Given the description of an element on the screen output the (x, y) to click on. 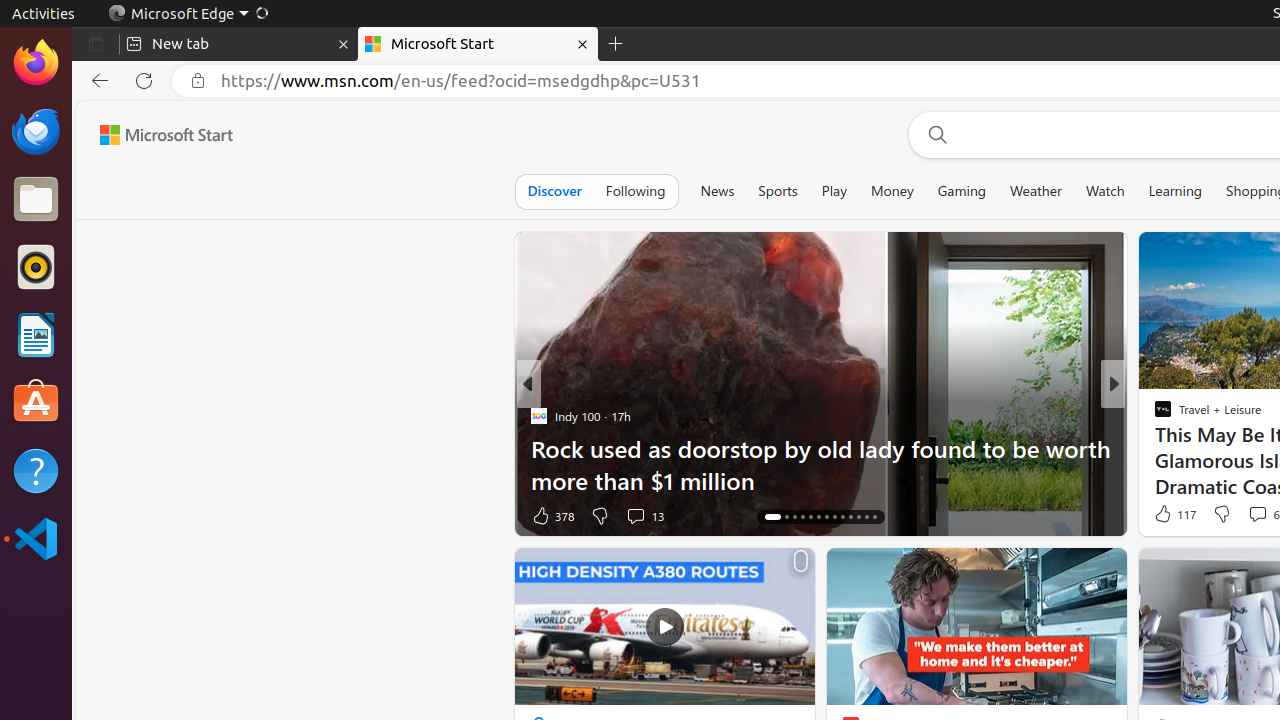
Thunderbird Mail Element type: push-button (36, 131)
Learning Element type: link (1175, 191)
724 Like Element type: toggle-button (1168, 515)
View comments 13 Comment Element type: push-button (635, 515)
View comments 28 Comment Element type: push-button (1251, 515)
